Given the description of an element on the screen output the (x, y) to click on. 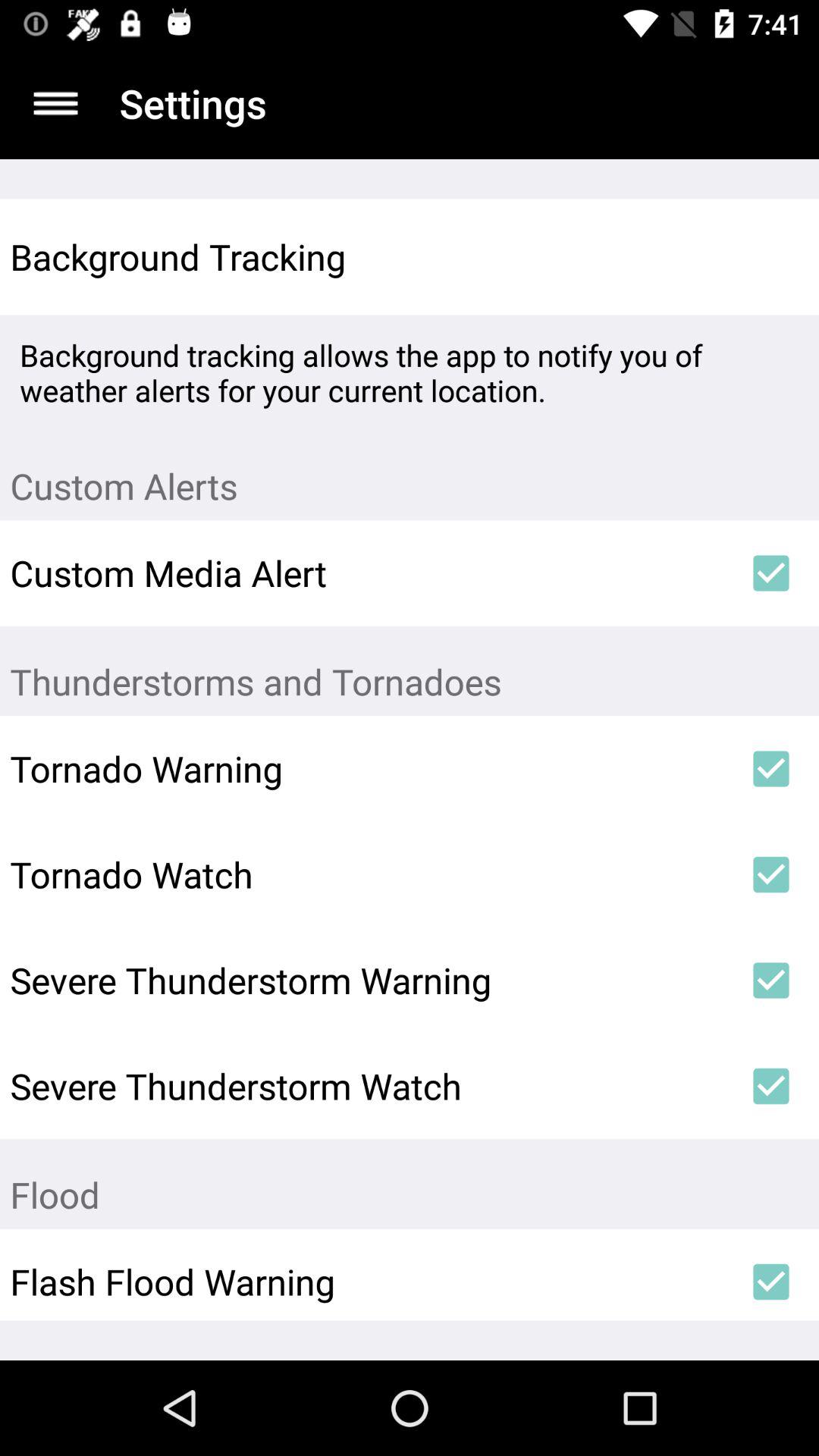
open item below the custom alerts (771, 573)
